Given the description of an element on the screen output the (x, y) to click on. 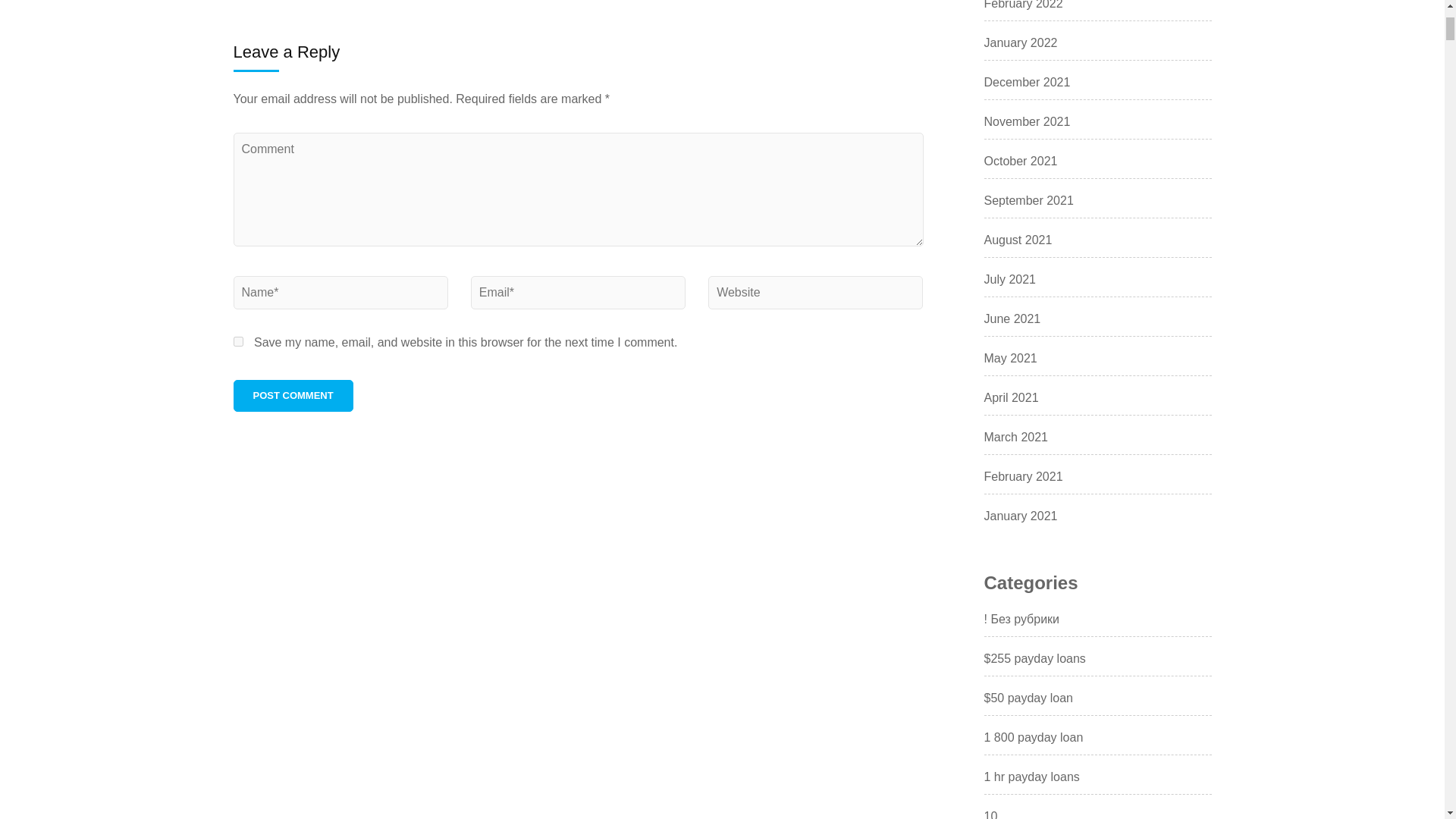
yes (237, 341)
Post Comment (292, 395)
Post Comment (292, 395)
